Given the description of an element on the screen output the (x, y) to click on. 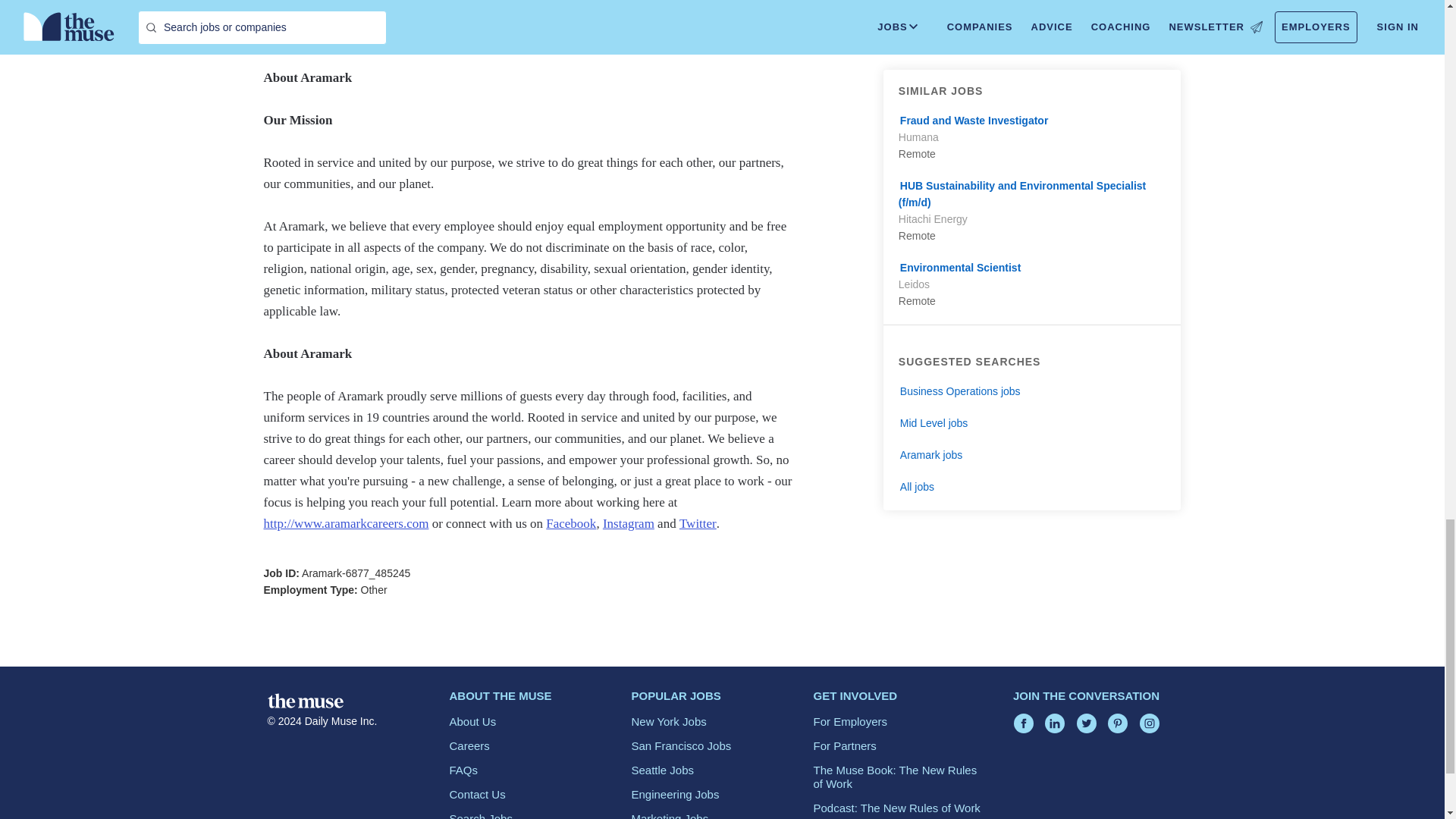
The Muse LogoA logo with "the muse" in white text. (304, 700)
